Given the description of an element on the screen output the (x, y) to click on. 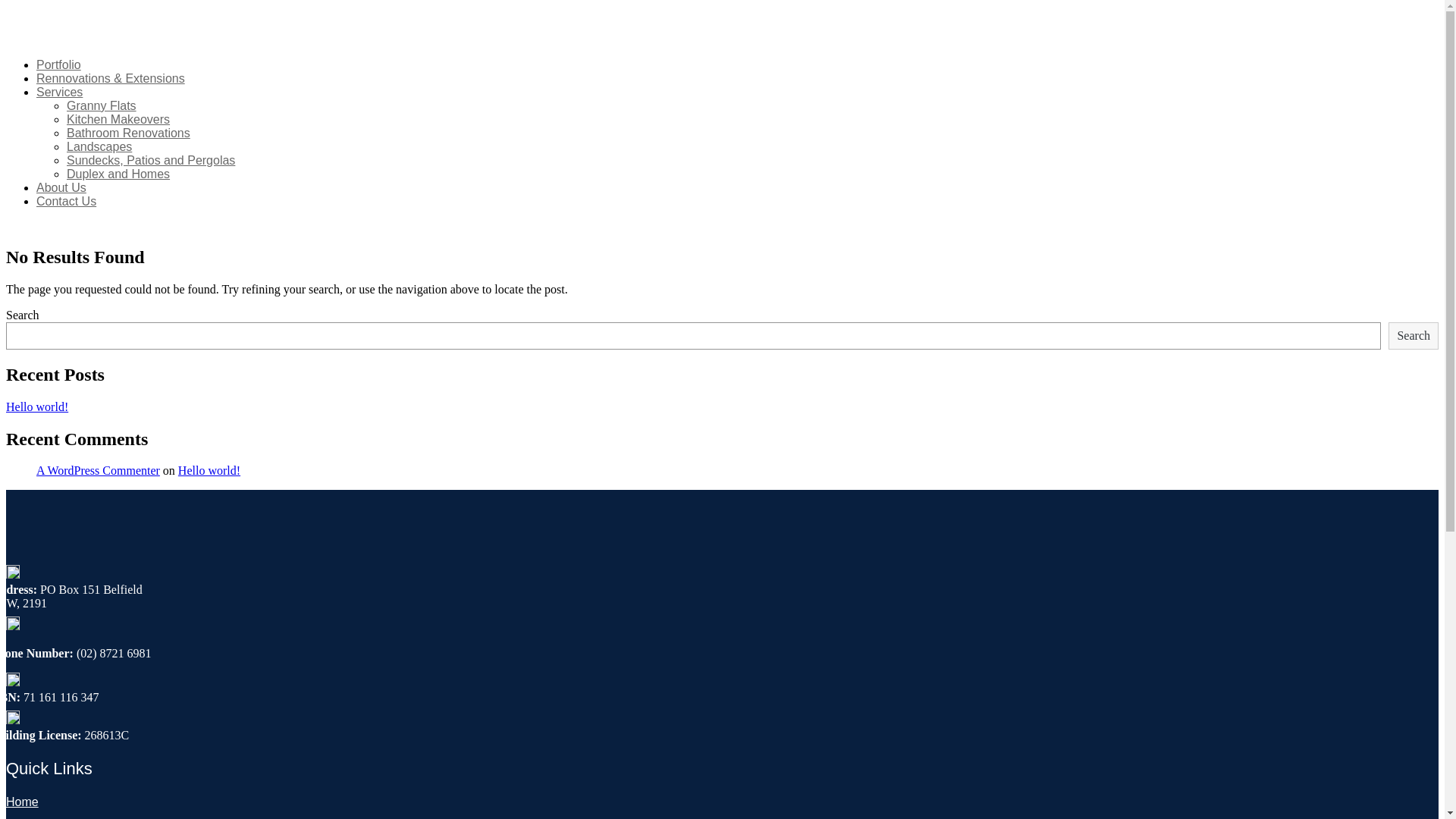
A WordPress Commenter Element type: text (98, 470)
Hello world! Element type: text (209, 470)
Portfolio Element type: text (58, 64)
Sundecks, Patios and Pergolas Element type: text (150, 159)
About Us Element type: text (61, 187)
Landscapes Element type: text (98, 146)
Granny Flats Element type: text (101, 105)
Search Element type: text (1413, 335)
Bathroom Renovations Element type: text (128, 132)
Kitchen Makeovers Element type: text (117, 118)
Services Element type: text (59, 91)
Hello world! Element type: text (37, 406)
Home Element type: text (22, 801)
Contact Us Element type: text (66, 200)
Duplex and Homes Element type: text (117, 173)
Rennovations & Extensions Element type: text (110, 78)
